Given the description of an element on the screen output the (x, y) to click on. 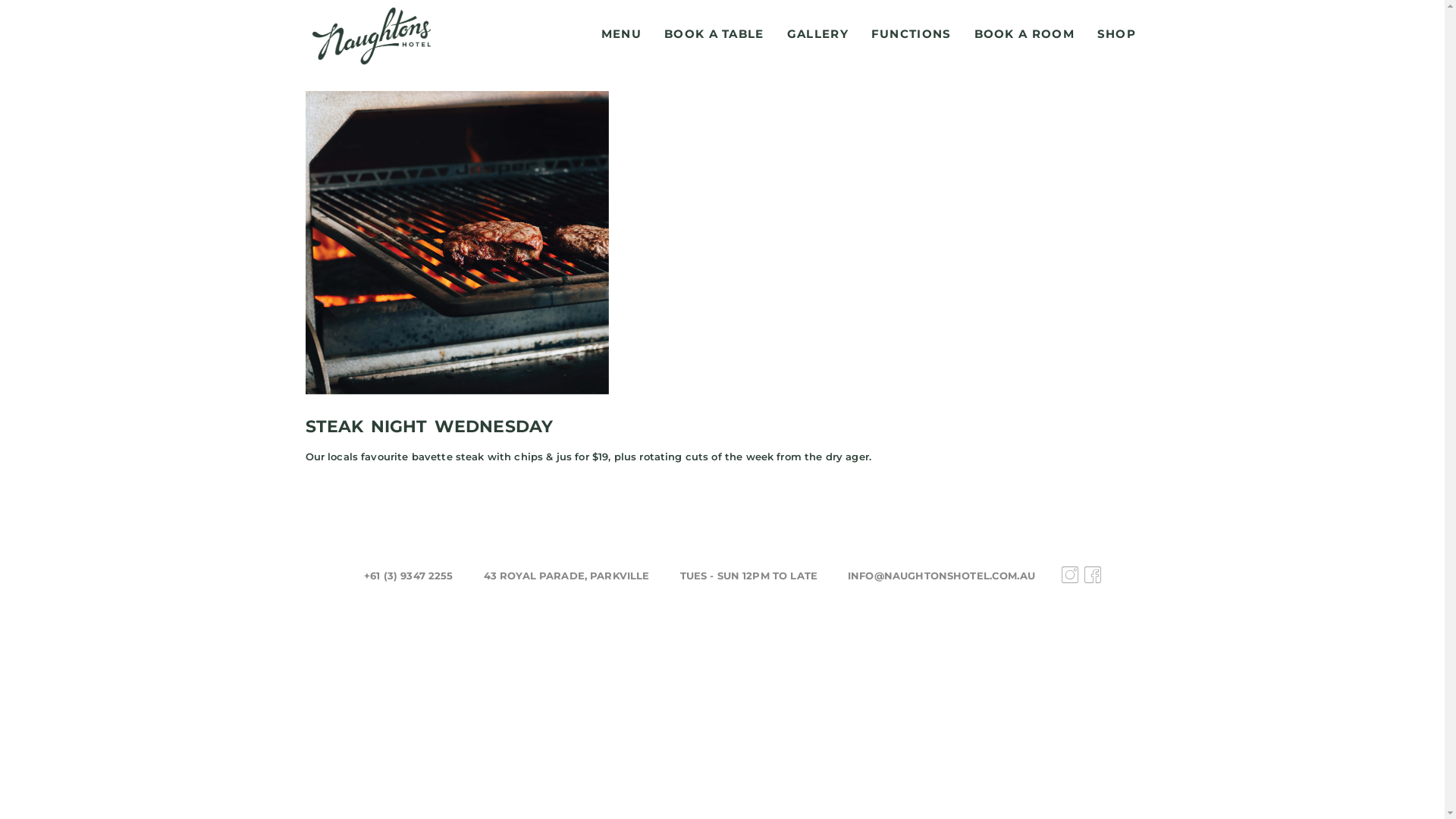
INFO@NAUGHTONSHOTEL.COM.AU Element type: text (941, 575)
43 ROYAL PARADE, PARKVILLE Element type: text (566, 575)
BOOK A ROOM Element type: text (1024, 34)
SHOP Element type: text (1116, 34)
GALLERY Element type: text (817, 34)
MENU Element type: text (620, 34)
FUNCTIONS Element type: text (911, 34)
BOOK A TABLE Element type: text (713, 34)
TUES - SUN 12PM TO LATE Element type: text (748, 575)
+61 (3) 9347 2255 Element type: text (408, 575)
